Given the description of an element on the screen output the (x, y) to click on. 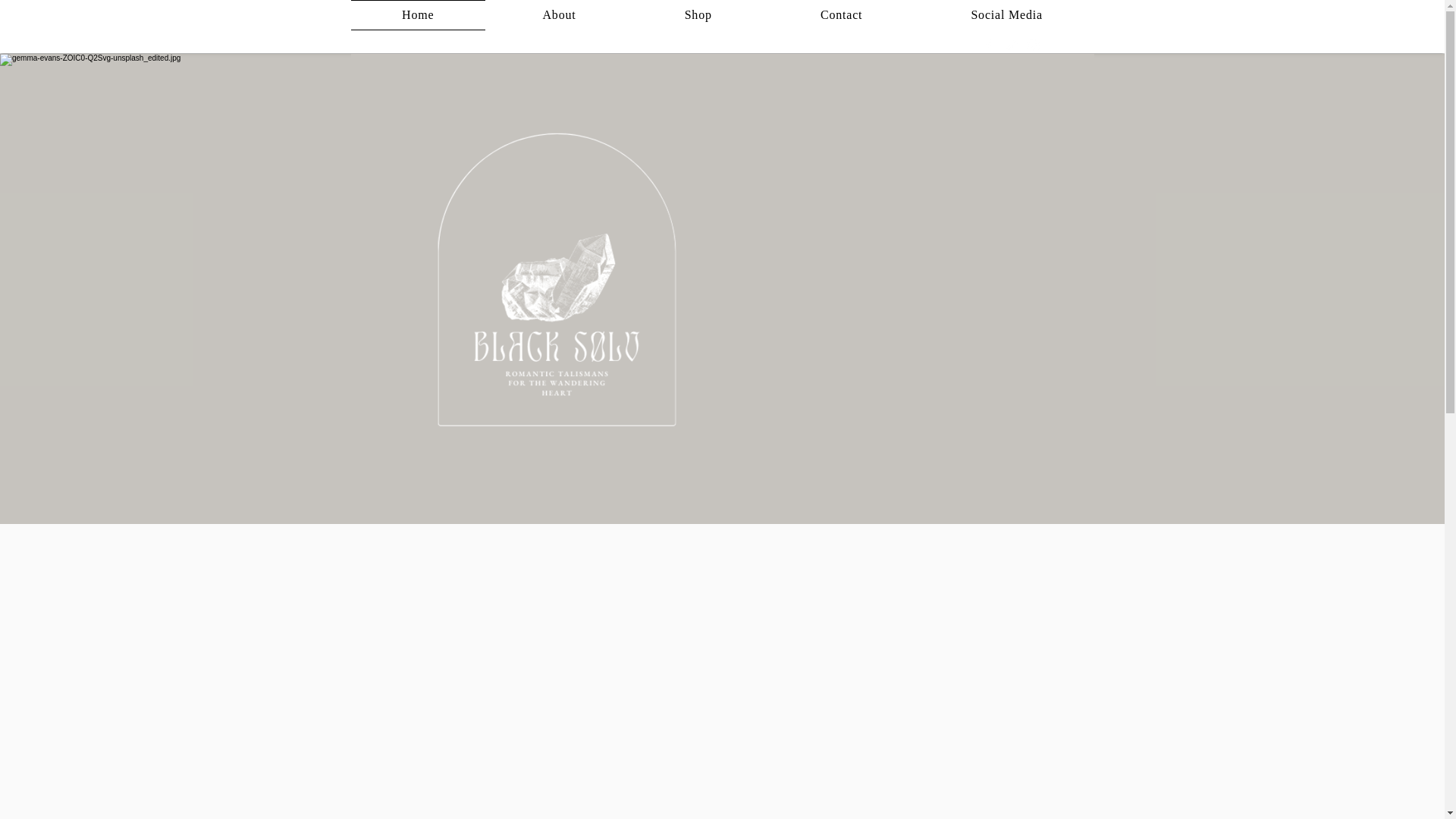
Social Media Element type: text (1006, 15)
Shop Element type: text (697, 15)
About Element type: text (559, 15)
Contact Element type: text (840, 15)
Home Element type: text (417, 15)
Untitled design (6).png Element type: hover (547, 288)
